Given the description of an element on the screen output the (x, y) to click on. 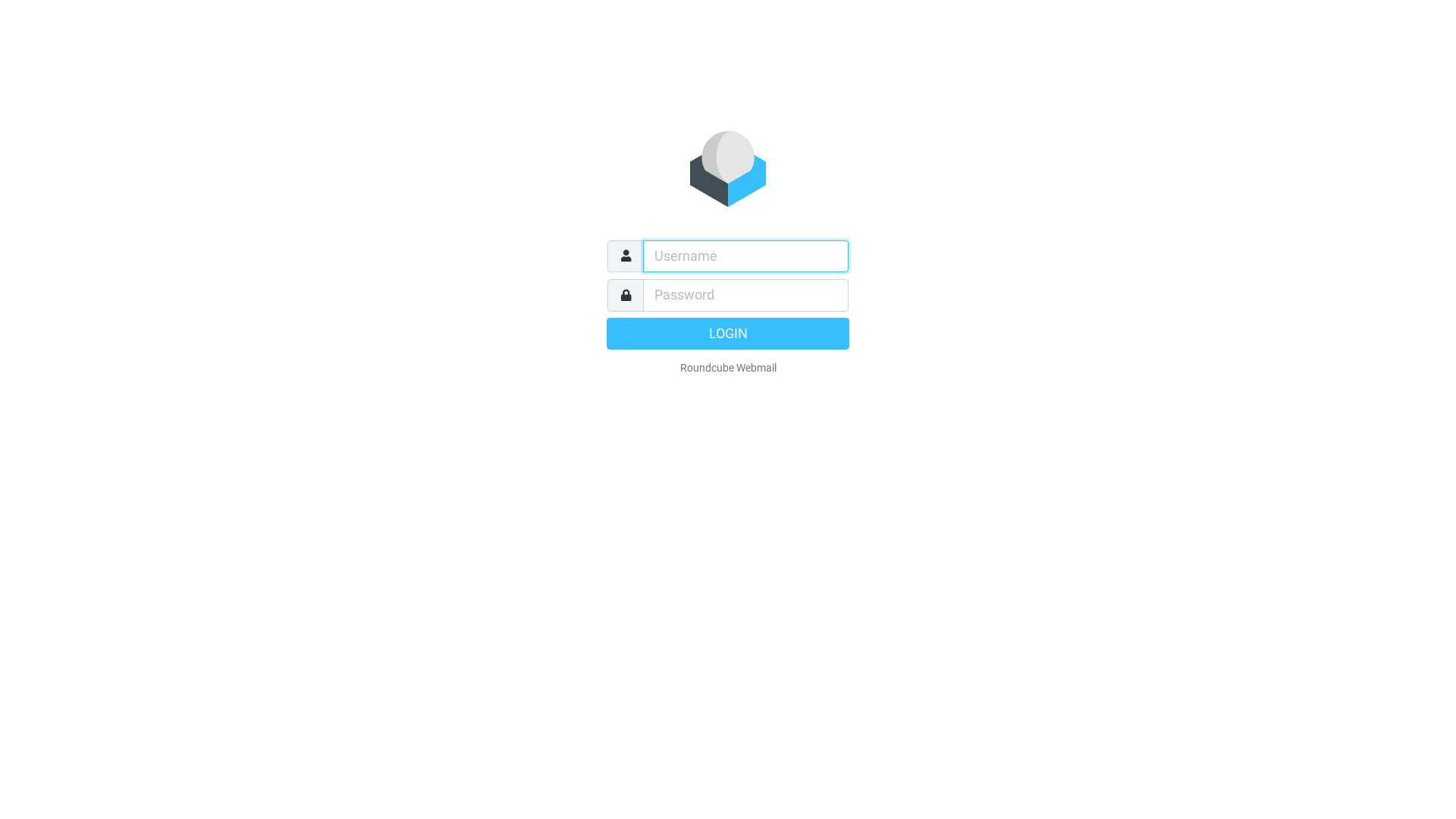
LOGIN Element type: text (727, 332)
